Given the description of an element on the screen output the (x, y) to click on. 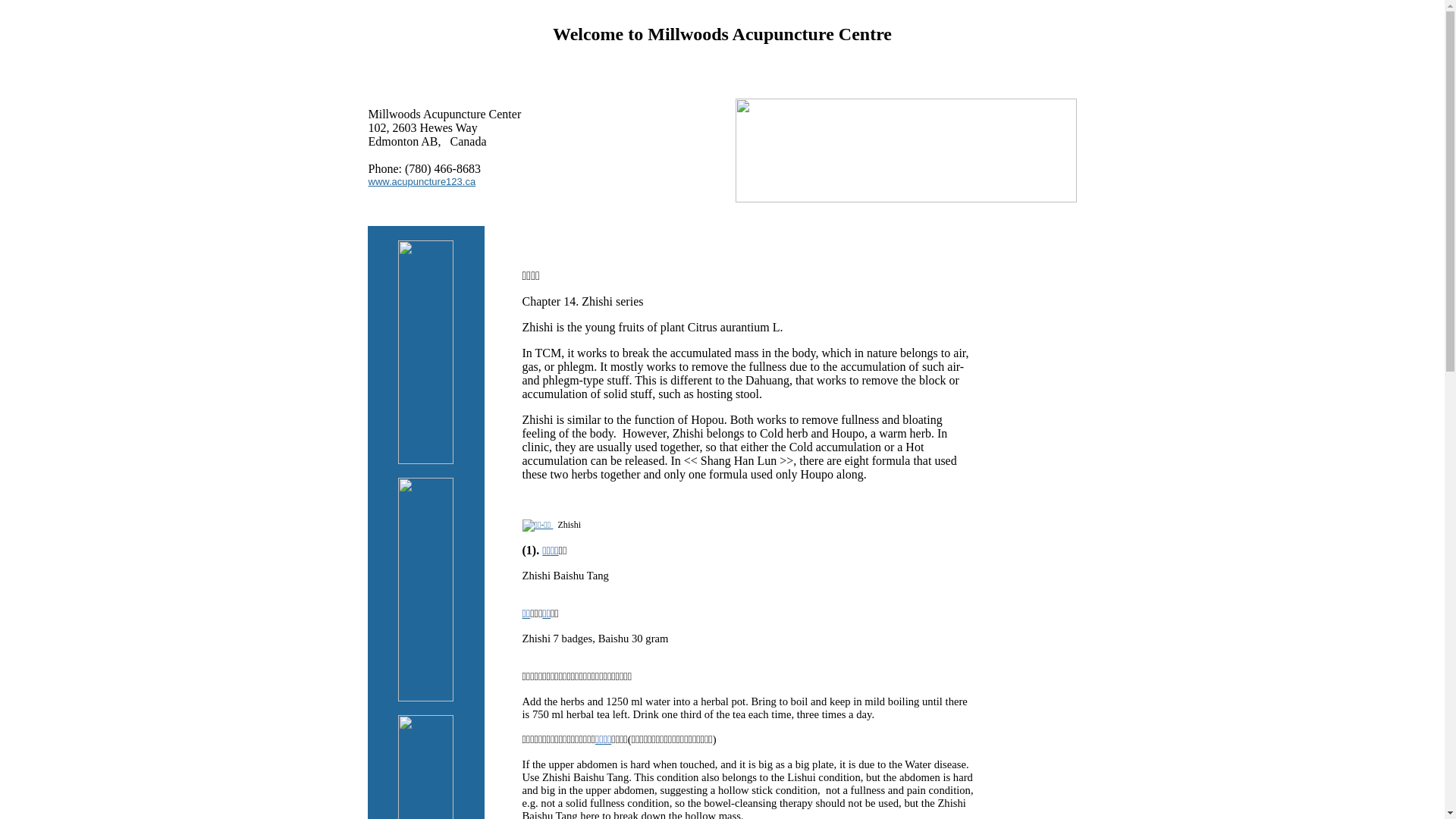
English Element type: text (1048, 73)
www.acupuncture123.ca Element type: text (422, 180)
